Given the description of an element on the screen output the (x, y) to click on. 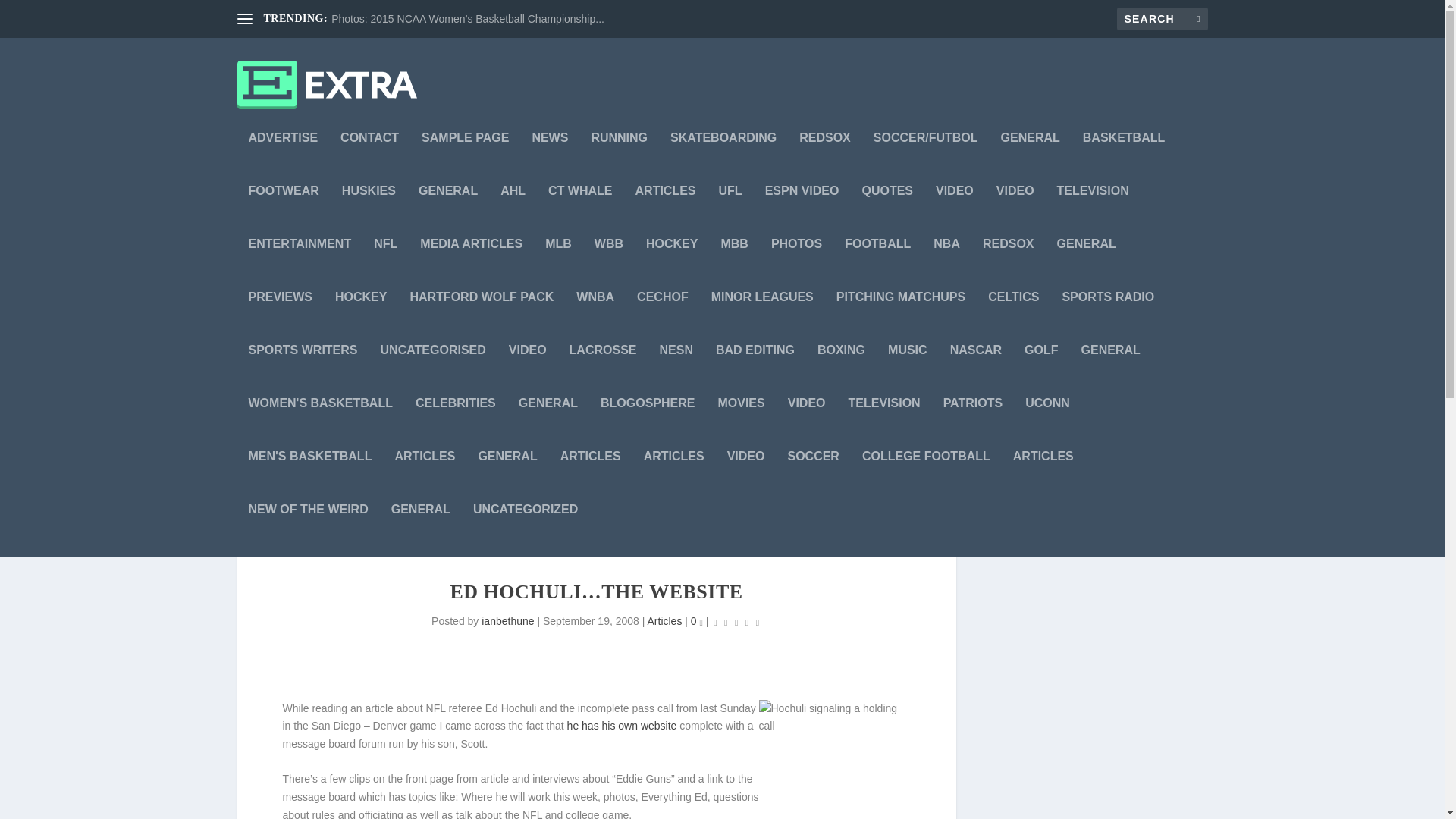
TELEVISION (1093, 211)
BASKETBALL (1123, 158)
Search for: (1161, 18)
GENERAL (1030, 158)
GENERAL (448, 211)
ENTERTAINMENT (300, 264)
REDSOX (824, 158)
ADVERTISE (283, 158)
UFL (730, 211)
Hochuli signaling a holding call (834, 759)
FOOTWEAR (283, 211)
CT WHALE (579, 211)
Posts by ianbethune (507, 621)
QUOTES (886, 211)
CONTACT (369, 158)
